Given the description of an element on the screen output the (x, y) to click on. 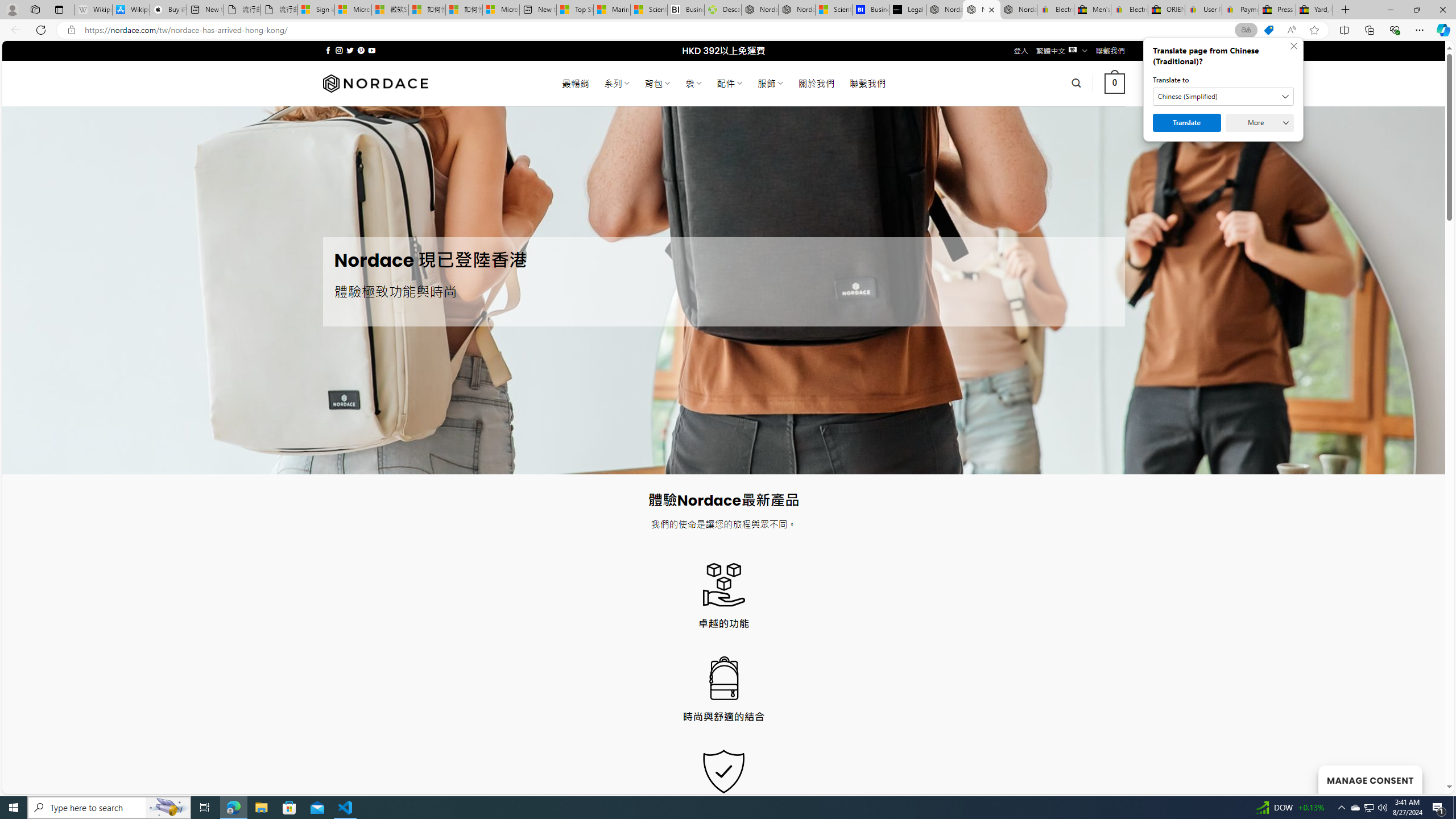
  0   (1115, 83)
